Given the description of an element on the screen output the (x, y) to click on. 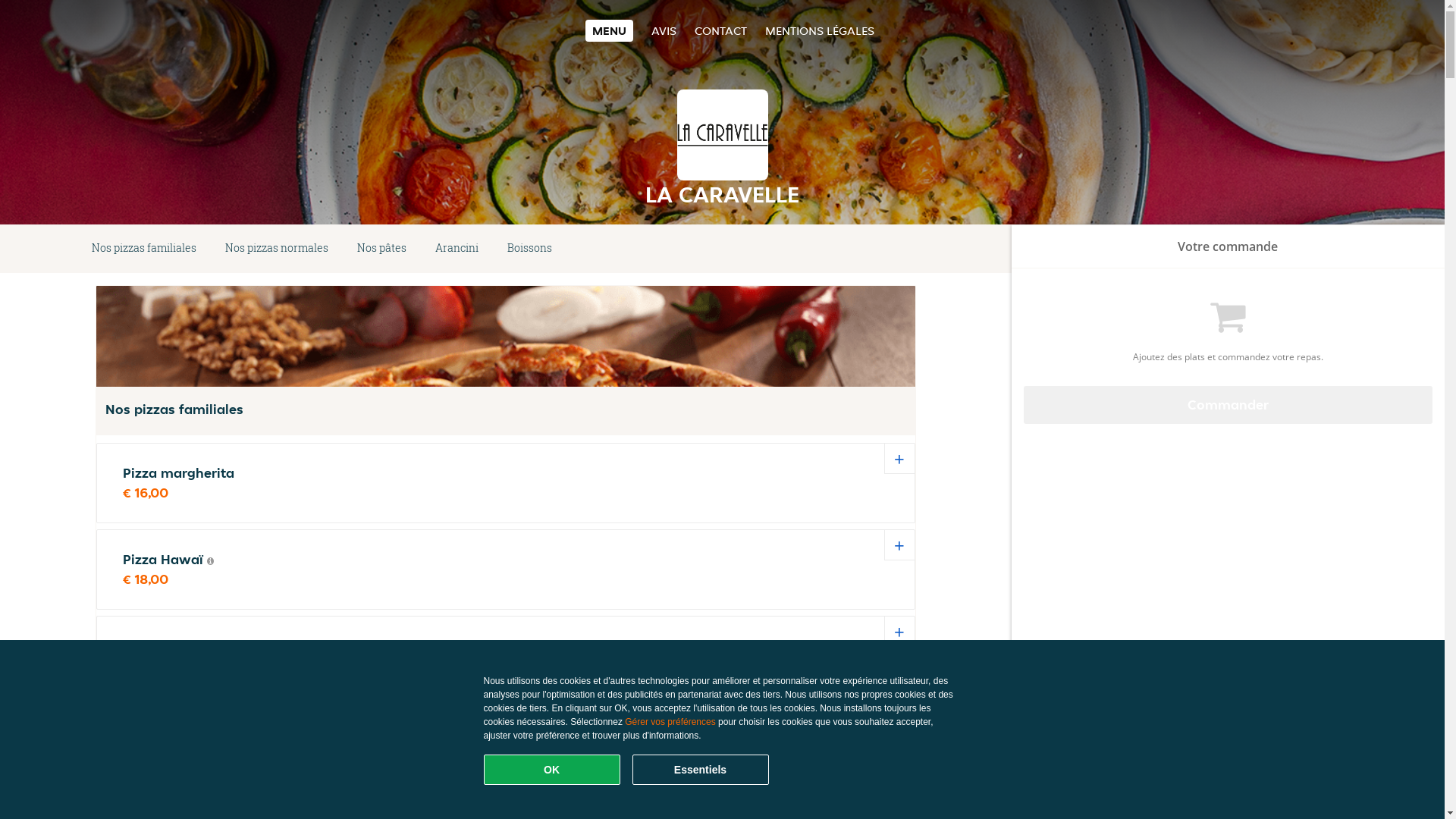
Plus d'informations sur le produit Element type: hover (216, 733)
Commander Element type: text (1228, 404)
Essentiels Element type: text (700, 769)
CONTACT Element type: text (720, 30)
Plus d'informations sur le produit Element type: hover (210, 560)
MENU Element type: text (609, 30)
Plus d'informations sur le produit Element type: hover (197, 647)
Nos pizzas familiales Element type: text (143, 248)
Boissons Element type: text (529, 248)
AVIS Element type: text (663, 30)
Arancini Element type: text (456, 248)
OK Element type: text (551, 769)
Nos pizzas normales Element type: text (276, 248)
